Given the description of an element on the screen output the (x, y) to click on. 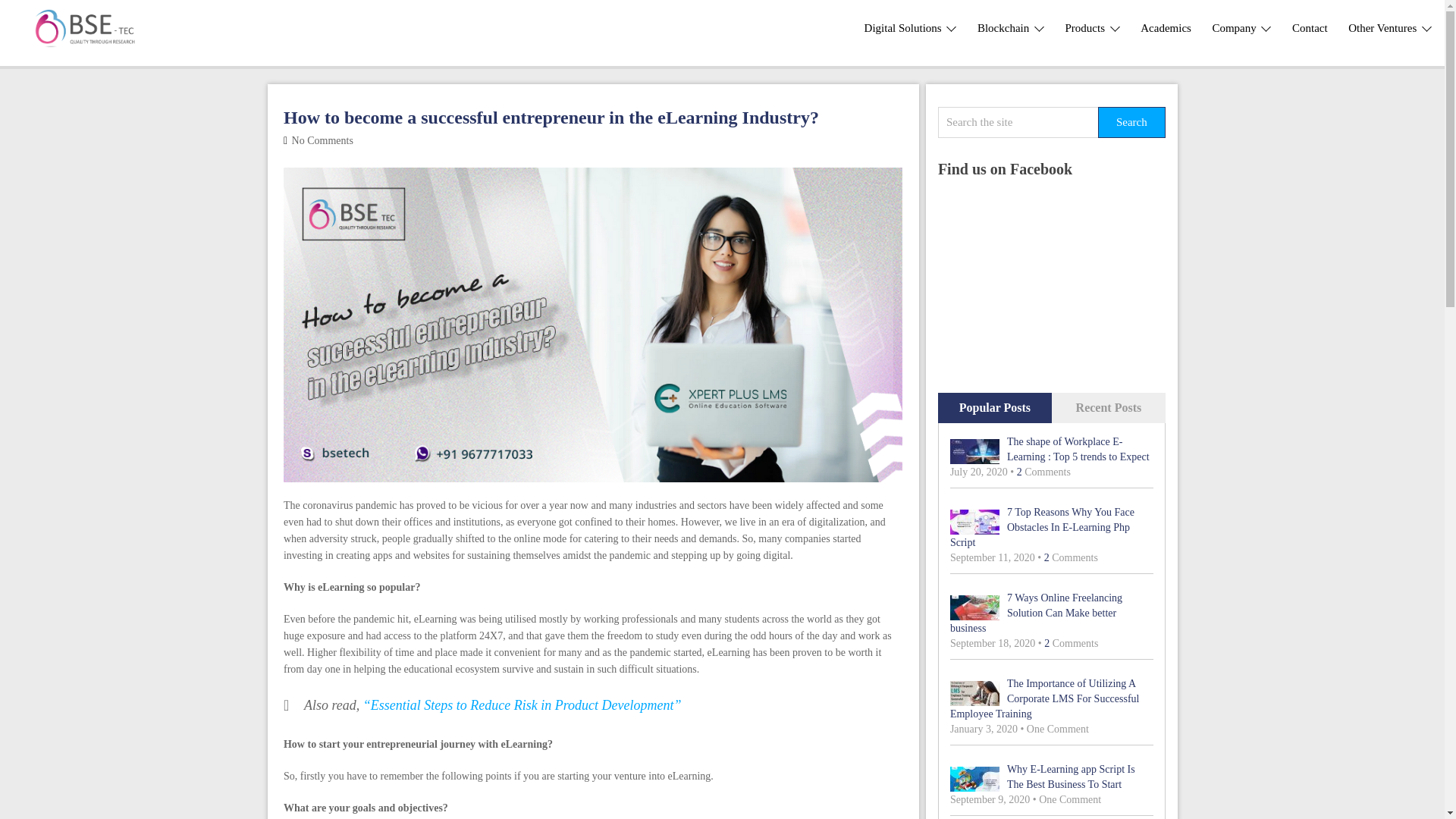
7 Ways Online Freelancing Solution Can Make better business (1051, 613)
Search (1131, 122)
The shape of Workplace E-Learning : Top 5 trends to Expect (1051, 449)
Why E-Learning app Script Is The Best Business To Start (1051, 777)
Search the site (1017, 122)
Digital Solutions (910, 28)
